Given the description of an element on the screen output the (x, y) to click on. 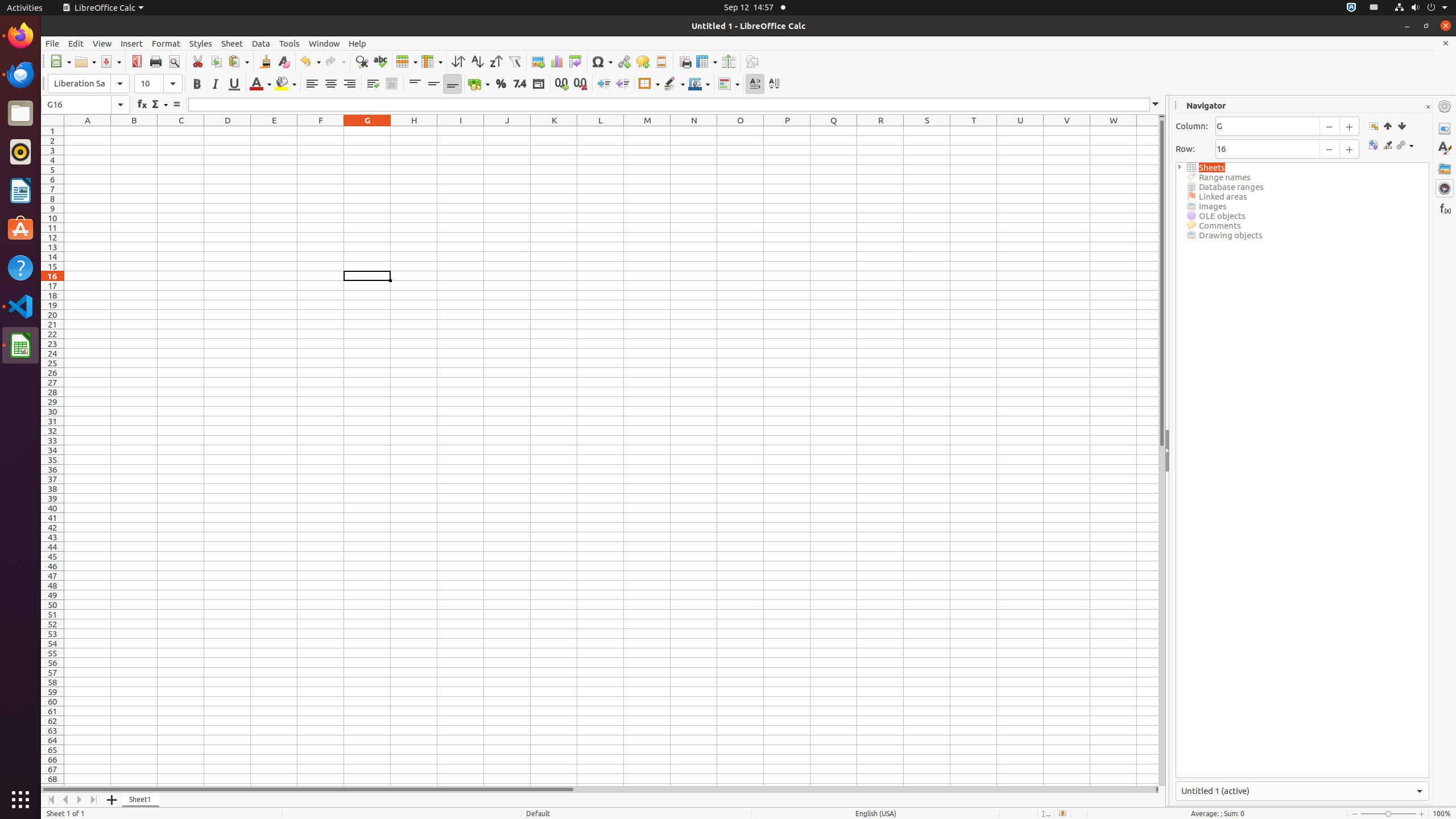
Paste Element type: push-button (237, 61)
Pivot Table Element type: push-button (574, 61)
Currency Element type: push-button (478, 83)
Start Element type: push-button (1387, 125)
Align Left Element type: push-button (311, 83)
